Given the description of an element on the screen output the (x, y) to click on. 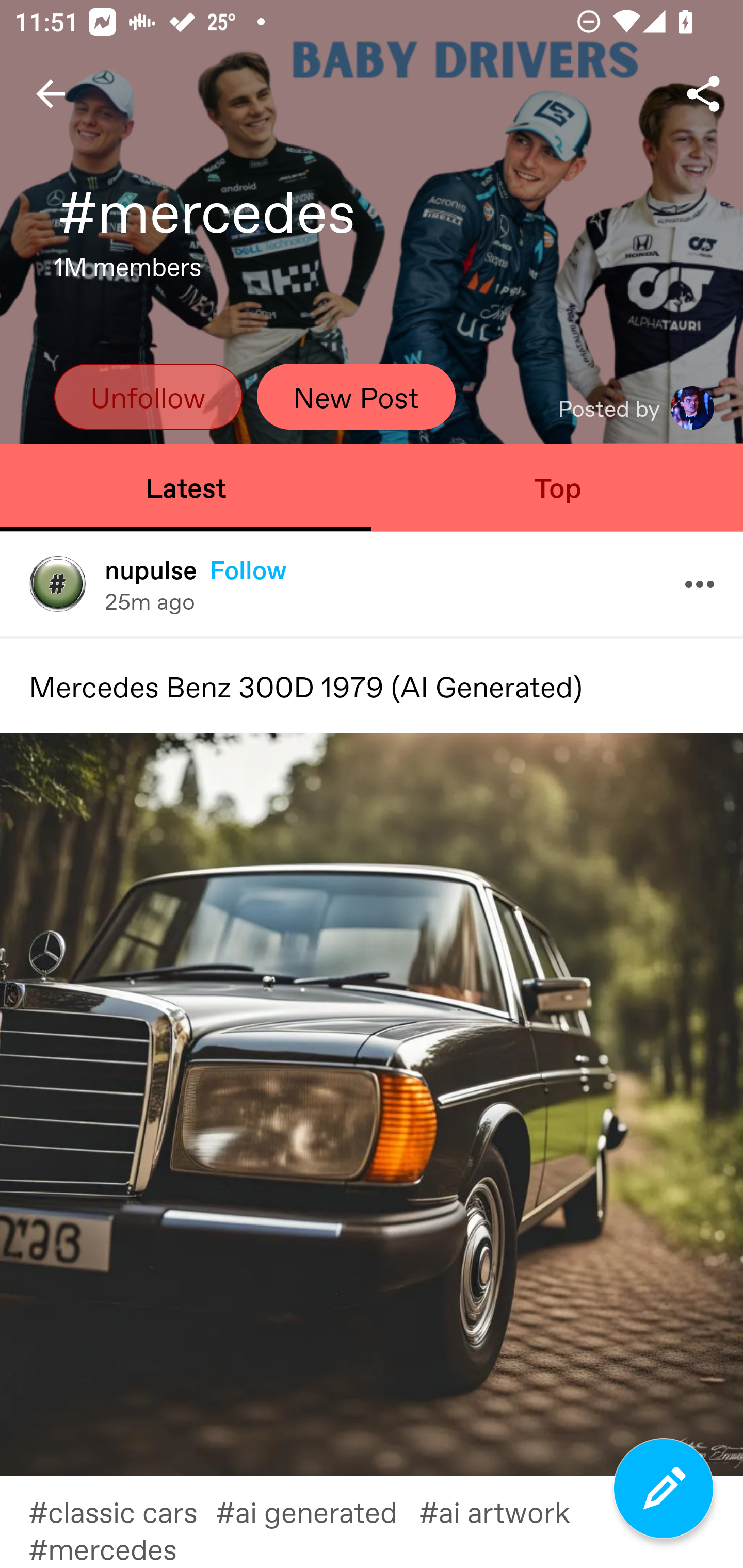
Navigate up (50, 93)
1M members (128, 272)
Unfollow (148, 396)
New Post (356, 396)
Top (557, 486)
Avatar frame nupulse   nupulse Follow 25m ago (371, 583)
Follow (247, 569)
Compose a new post (663, 1488)
#classic cars (121, 1511)
#ai generated (317, 1511)
#ai artwork (505, 1511)
#mercedes (116, 1548)
